Given the description of an element on the screen output the (x, y) to click on. 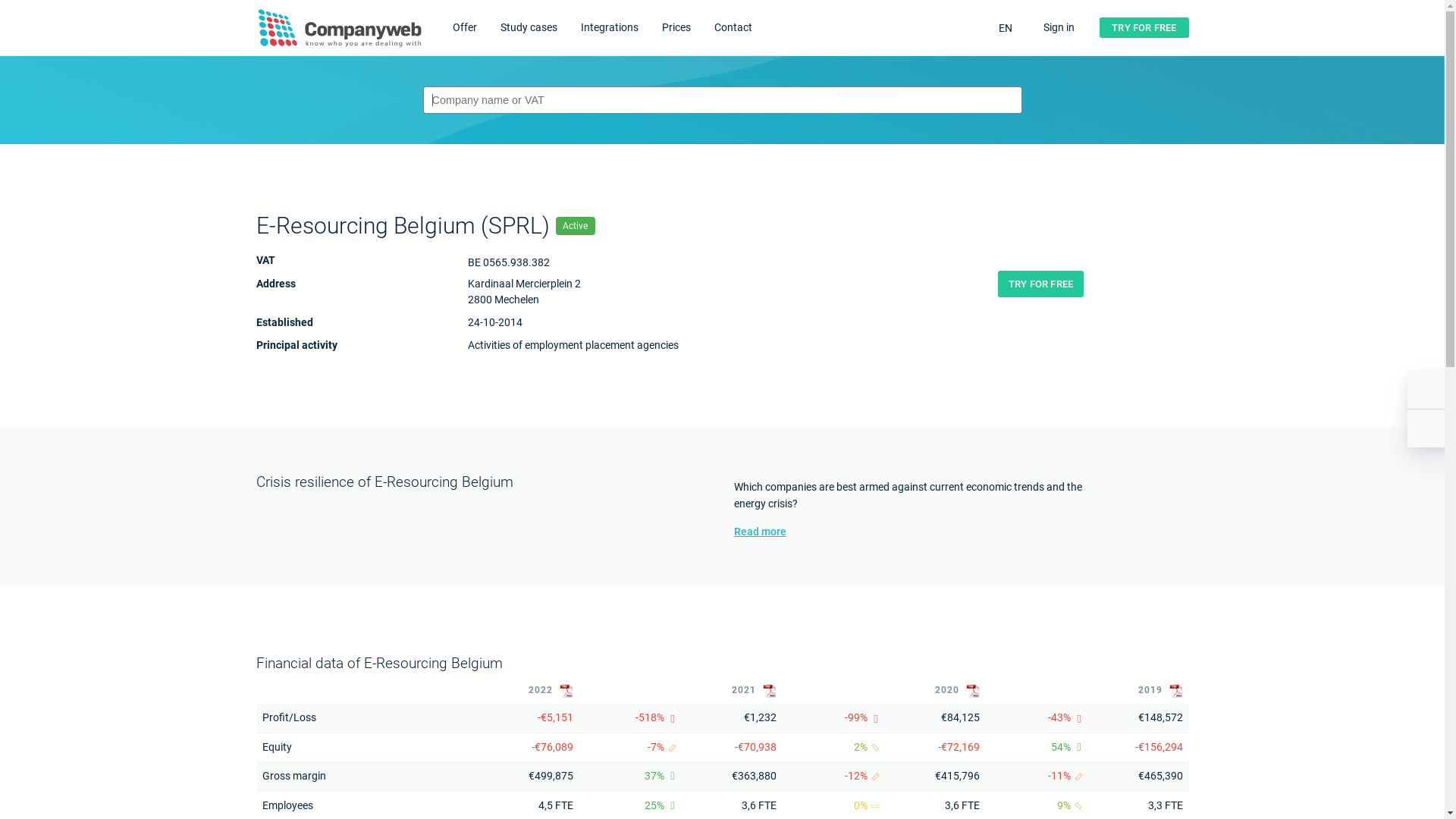
Contact Element type: text (733, 27)
Offer Element type: text (463, 27)
Integrations Element type: text (609, 27)
EN Element type: text (1002, 28)
TRY FOR FREE Element type: text (1143, 27)
Sign in Element type: text (1056, 27)
Prices Element type: text (675, 27)
TRY FOR FREE Element type: text (1040, 284)
Study cases Element type: text (528, 27)
Read more Element type: text (921, 532)
